Given the description of an element on the screen output the (x, y) to click on. 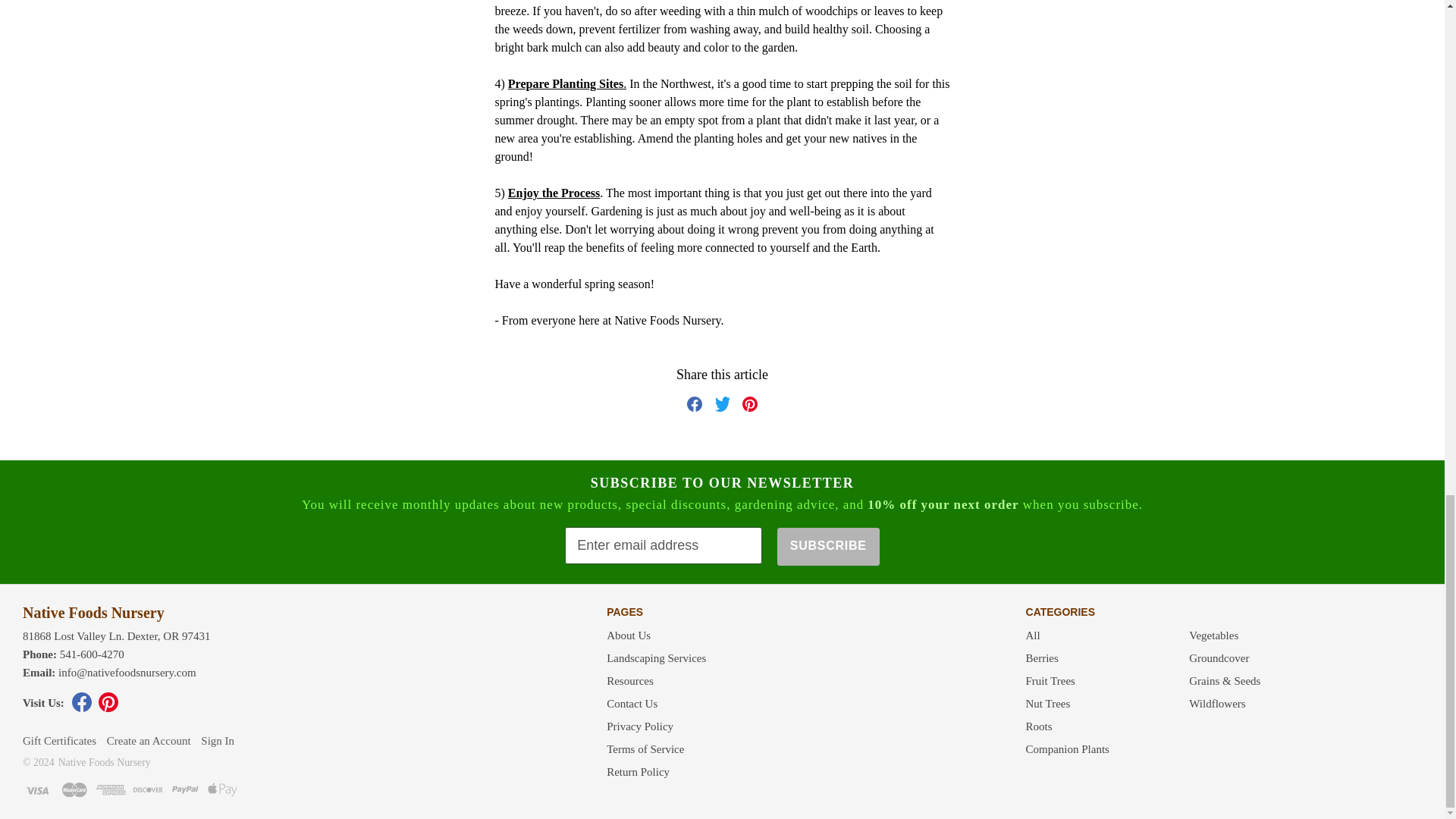
Facebook Page Link (81, 707)
Pinterest Page link (108, 707)
Subscribe (828, 546)
homepage link (93, 612)
